Given the description of an element on the screen output the (x, y) to click on. 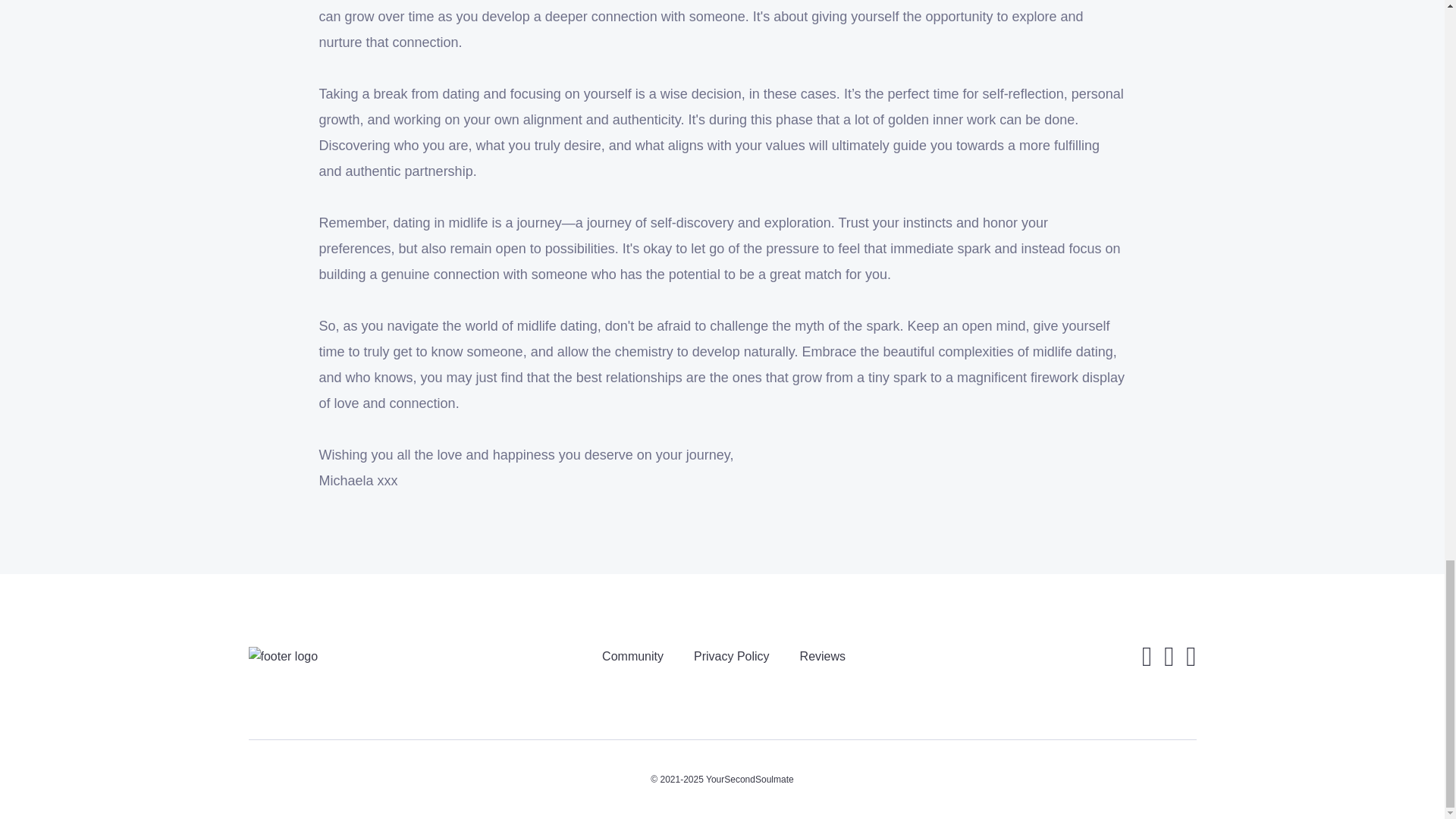
Privacy Policy (732, 656)
Reviews (822, 656)
Community (632, 656)
